Given the description of an element on the screen output the (x, y) to click on. 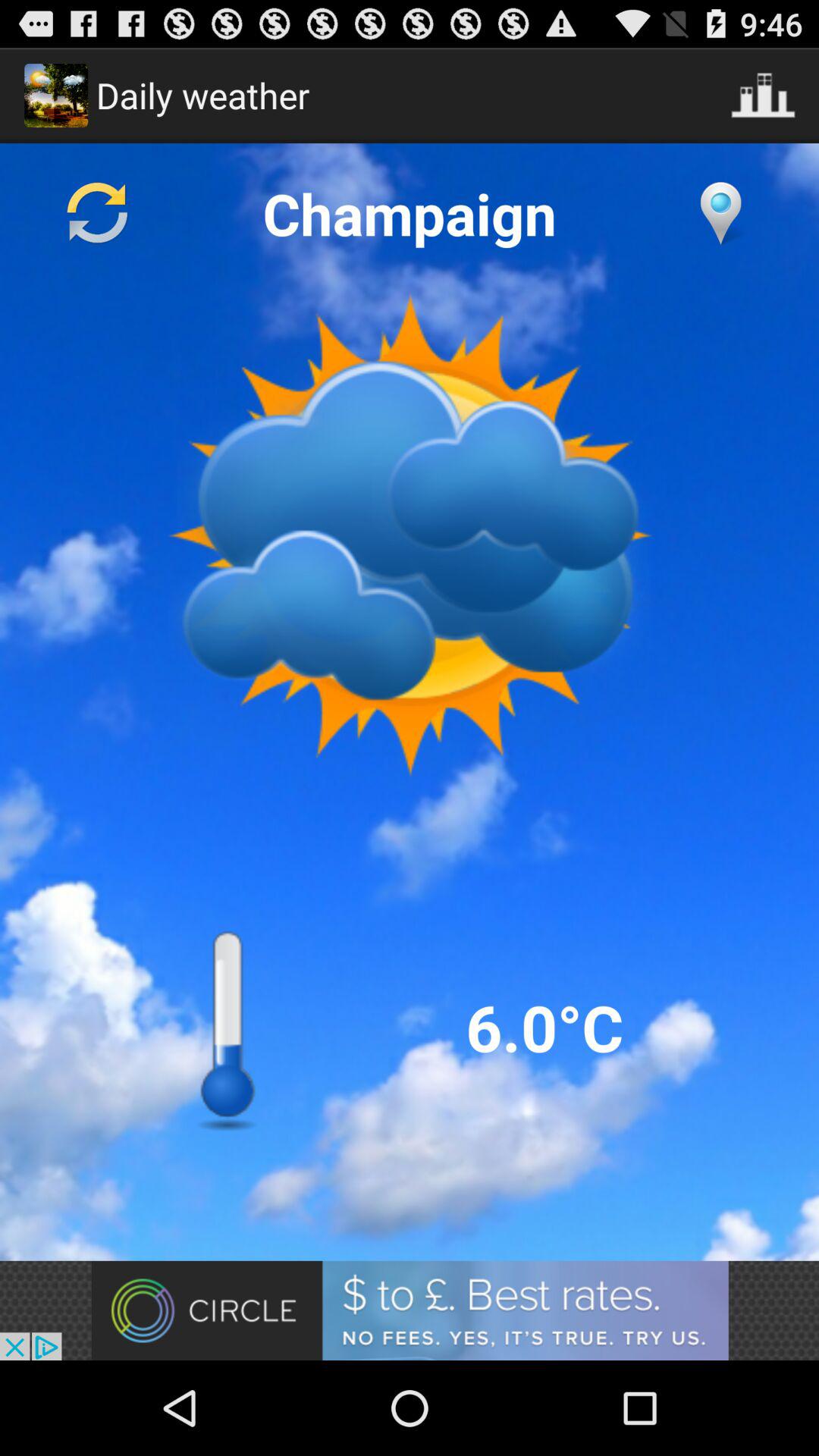
change location (720, 213)
